Given the description of an element on the screen output the (x, y) to click on. 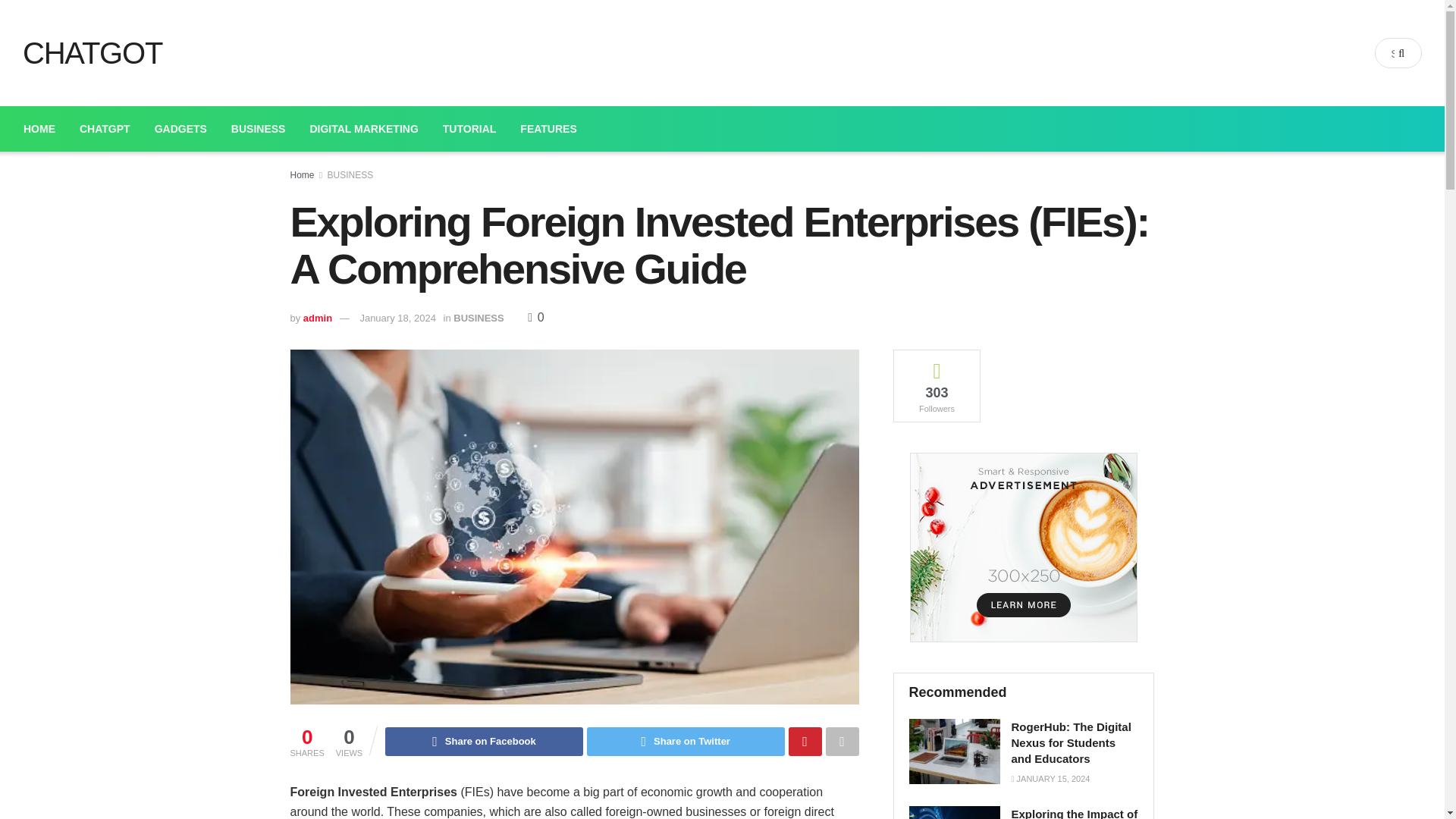
admin (316, 317)
Share on Twitter (685, 741)
Home (301, 174)
January 18, 2024 (397, 317)
BUSINESS (350, 174)
GADGETS (180, 128)
FEATURES (548, 128)
Share on Facebook (484, 741)
CHATGOT (86, 52)
BUSINESS (258, 128)
CHATGPT (104, 128)
0 (535, 317)
BUSINESS (477, 317)
HOME (38, 128)
TUTORIAL (469, 128)
